Given the description of an element on the screen output the (x, y) to click on. 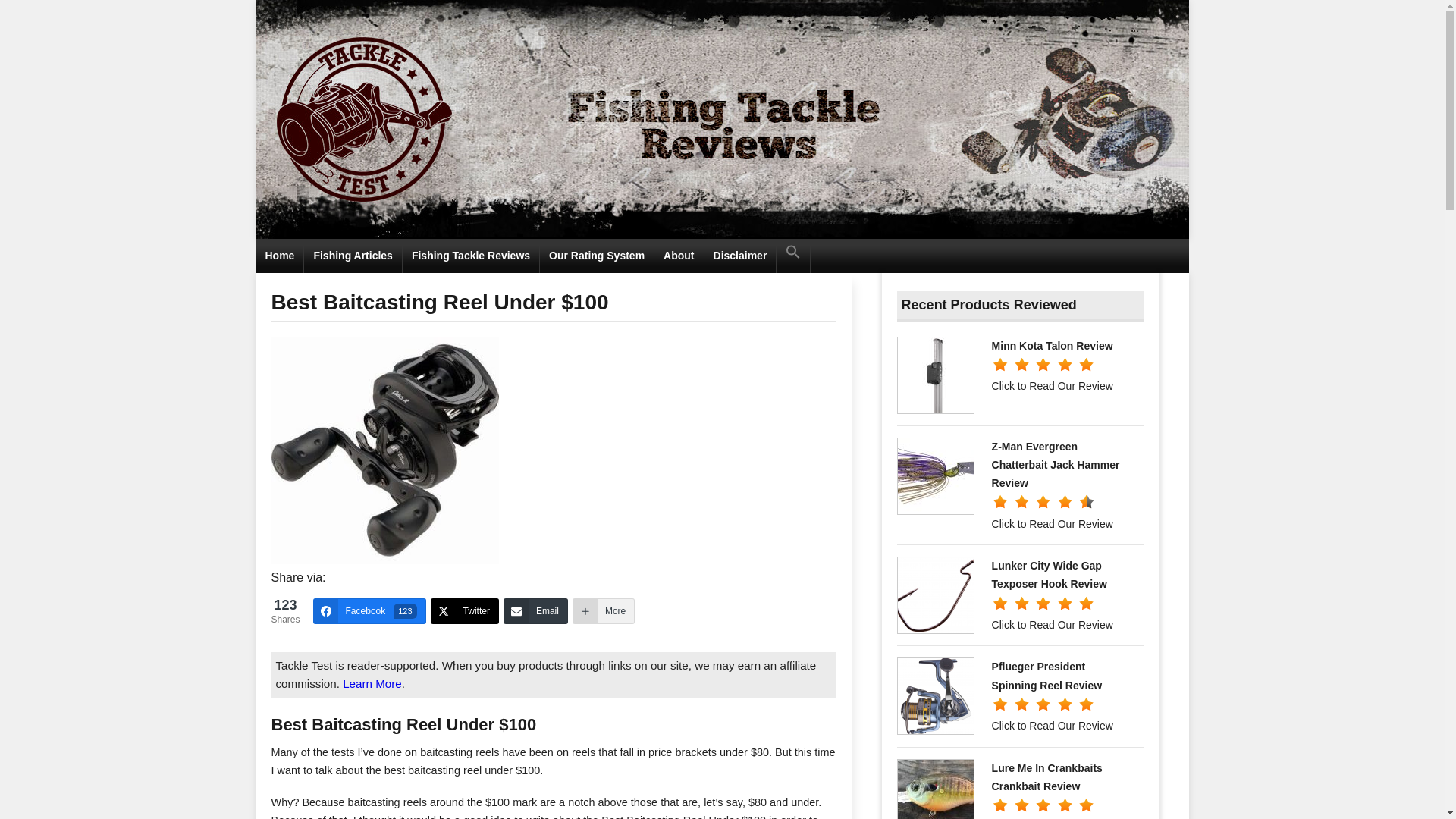
Fishing Tackle Reviews (471, 255)
Home (280, 255)
Minn Kota Talon Review (369, 611)
More (1052, 345)
Fishing Articles (603, 611)
Twitter (353, 255)
Email (464, 611)
Learn More (535, 611)
Our Rating System (371, 683)
